Given the description of an element on the screen output the (x, y) to click on. 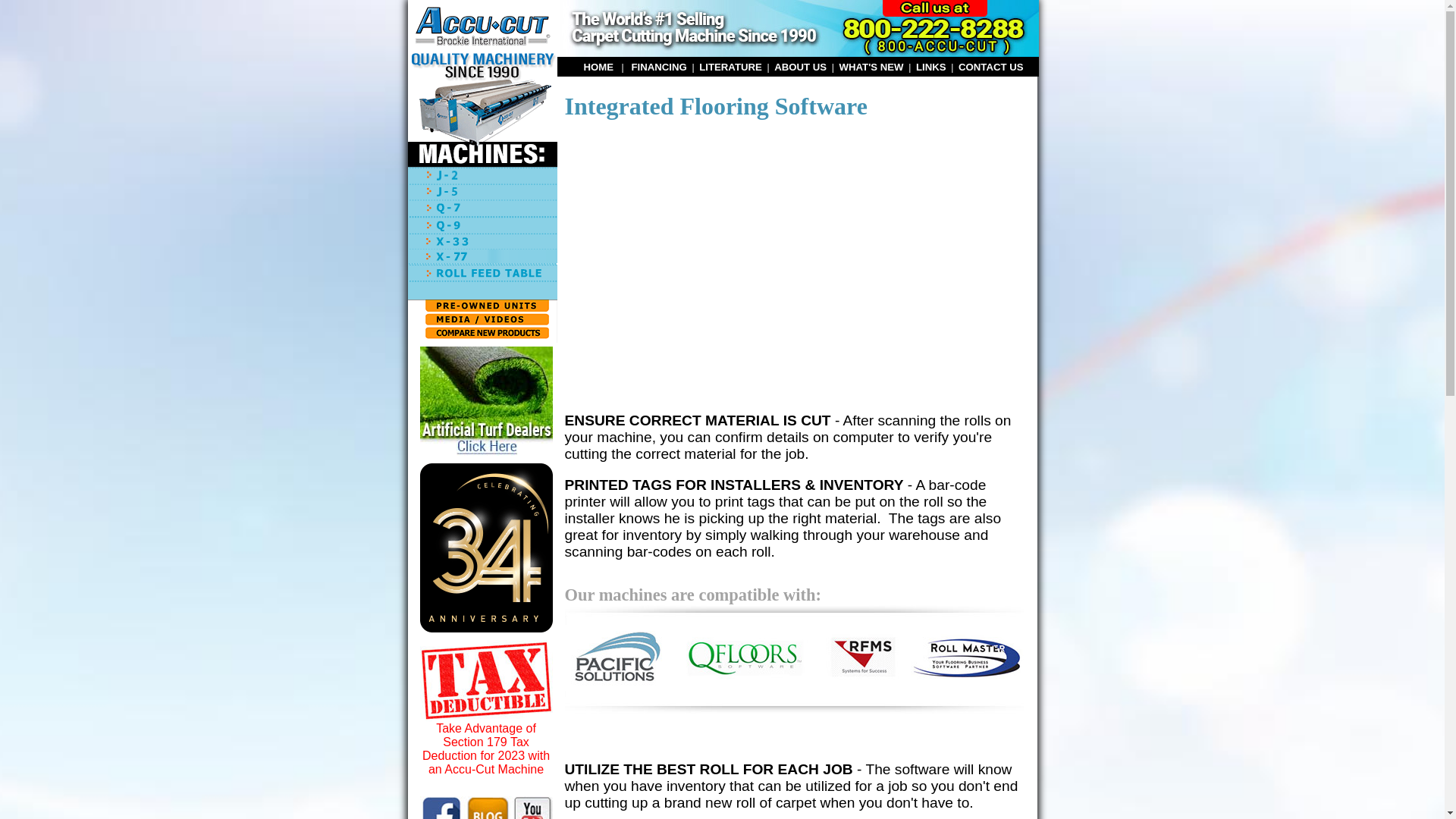
Tax Deductible (486, 680)
Accu-Cut :: Carpet Cutting Machines :: 1-800-222-8288 (797, 28)
HOME (599, 66)
CONTACT US (990, 66)
LINKS (930, 66)
ABOUT US (800, 66)
HOME (599, 66)
ABOUT US (800, 66)
Artificial Turf Dealers Click Here (485, 400)
social media icons (486, 807)
LITERATURE (729, 66)
WHAT'S NEW (872, 66)
LITERATURE (729, 66)
FINANCING (659, 66)
FINANCING (659, 66)
